Given the description of an element on the screen output the (x, y) to click on. 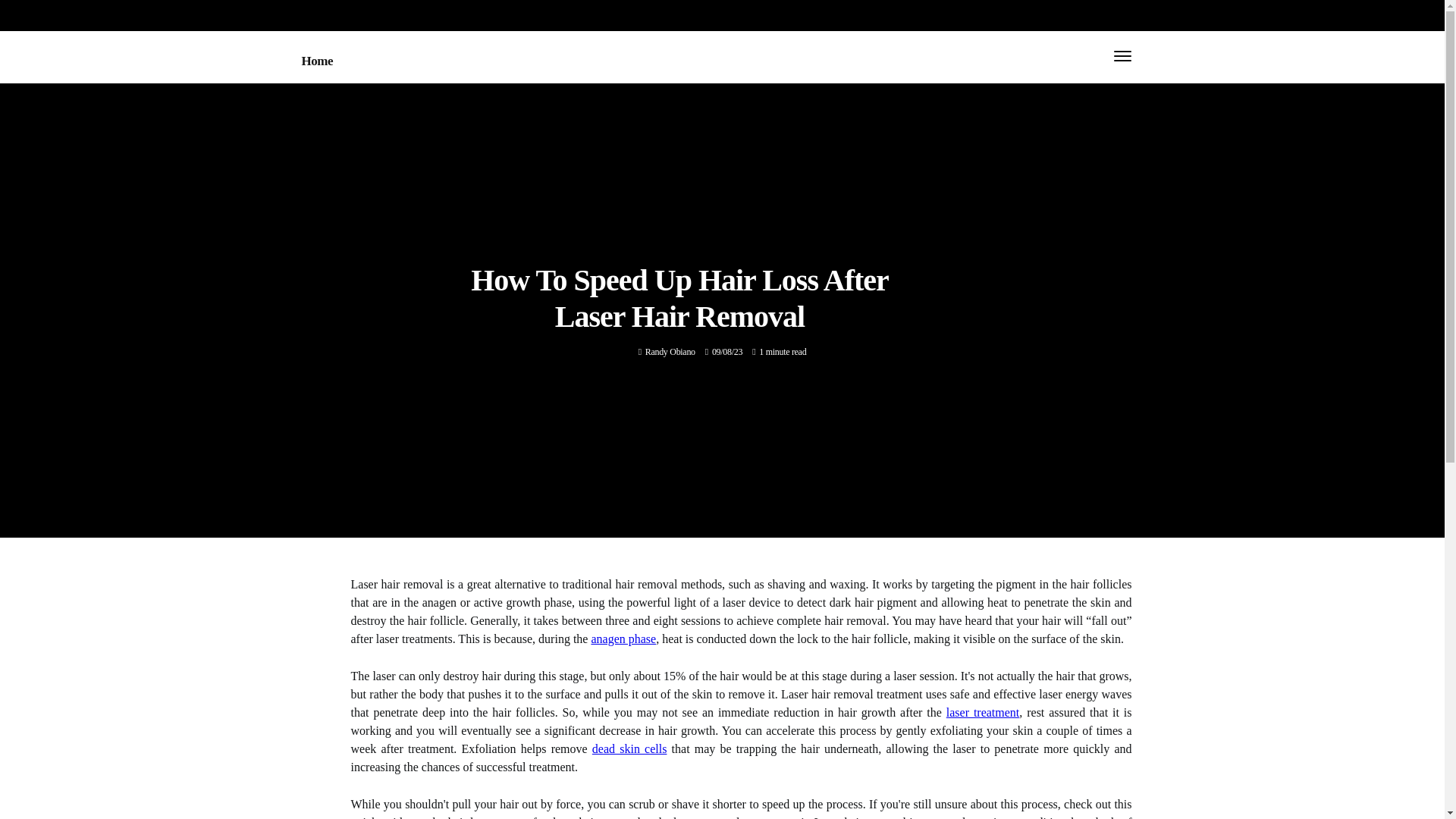
Posts by Randy Obiano (670, 351)
Randy Obiano (670, 351)
dead skin cells (629, 748)
laser treatment (983, 712)
anagen phase (623, 638)
